Given the description of an element on the screen output the (x, y) to click on. 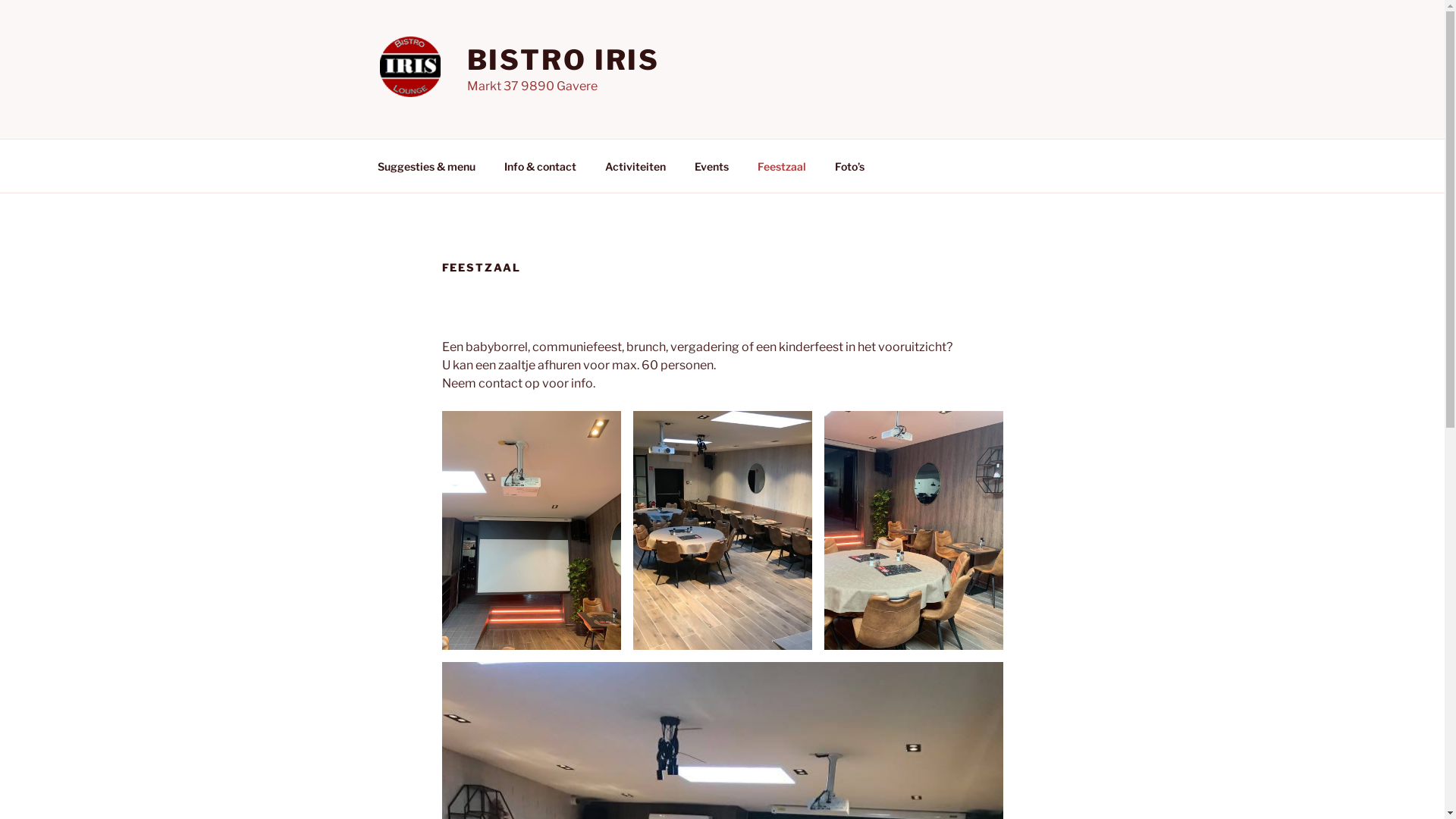
Events Element type: text (710, 165)
Info & contact Element type: text (540, 165)
BISTRO IRIS Element type: text (563, 59)
Feestzaal Element type: text (781, 165)
Suggesties & menu Element type: text (426, 165)
Activiteiten Element type: text (634, 165)
